Given the description of an element on the screen output the (x, y) to click on. 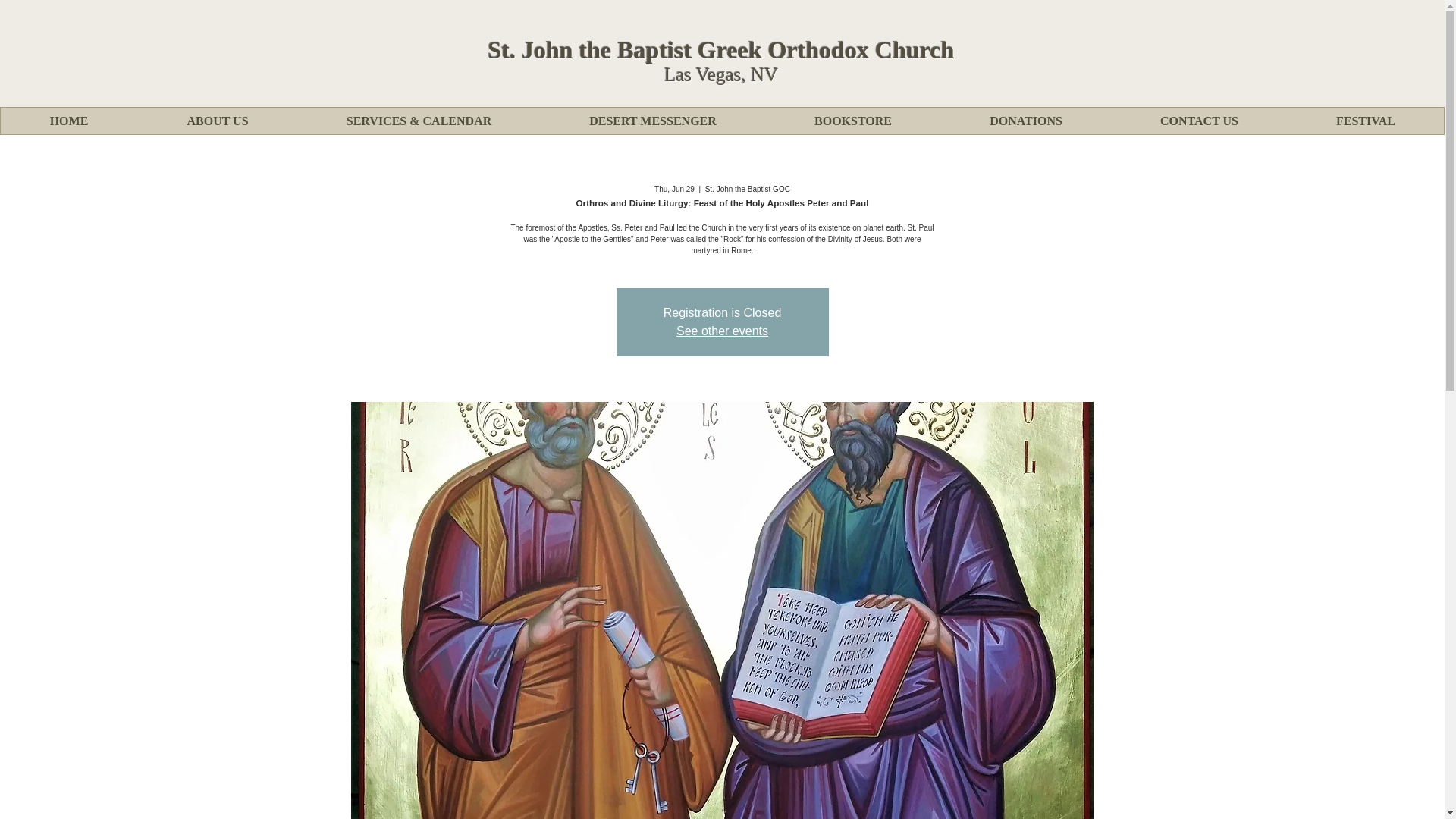
CONTACT US (1198, 120)
BOOKSTORE (852, 120)
HOME (68, 120)
DESERT MESSENGER (652, 120)
See other events (722, 330)
St. John the Baptist Greek Orthodox Church (721, 49)
